Given the description of an element on the screen output the (x, y) to click on. 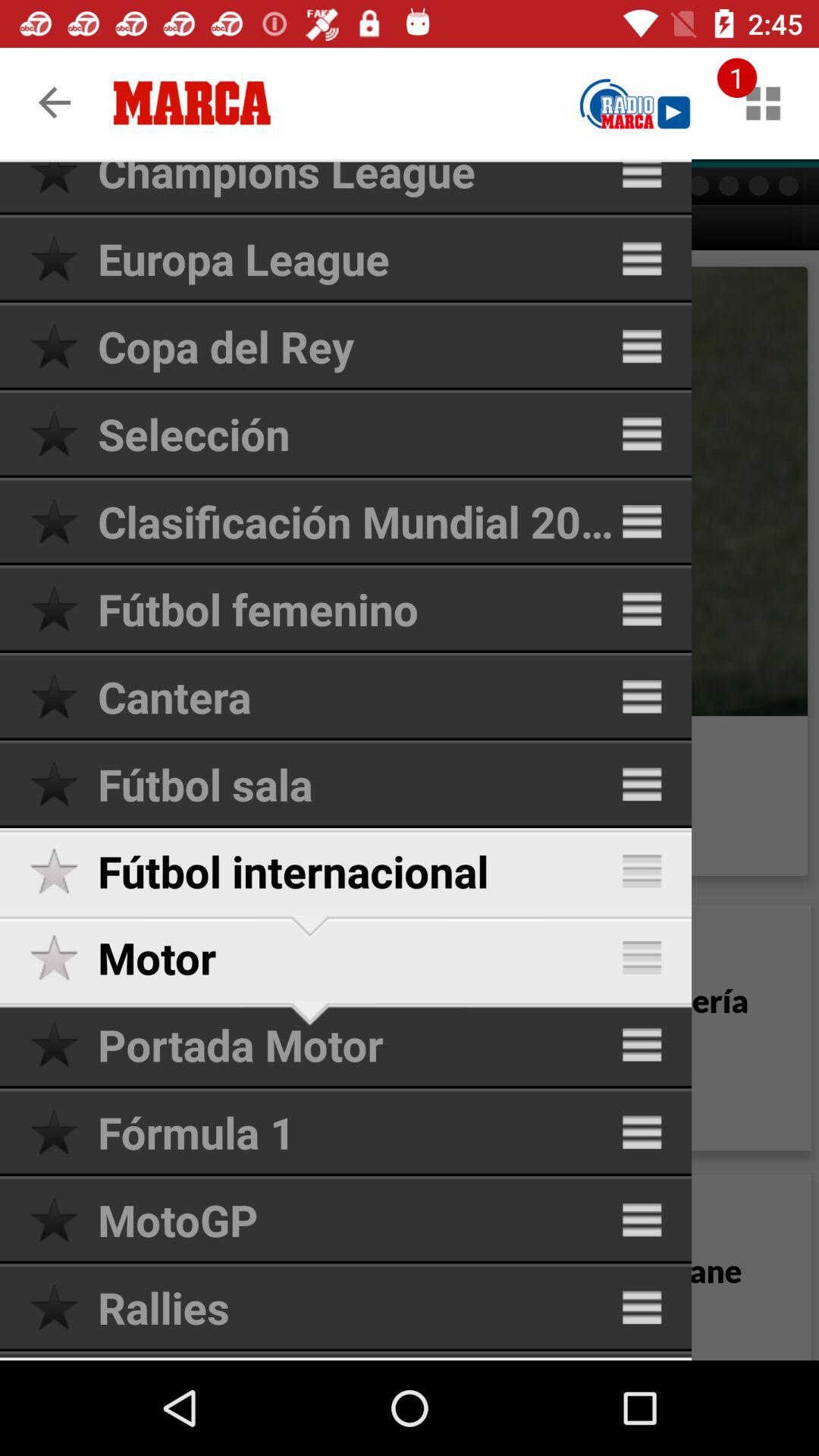
click on menu icon of rallies (641, 1307)
select the option which is left to the text clasiflcacion mundial 20 (63, 521)
click on the menu button which is to the right of the futbol femenino (641, 609)
click on icon below time (763, 103)
